Given the description of an element on the screen output the (x, y) to click on. 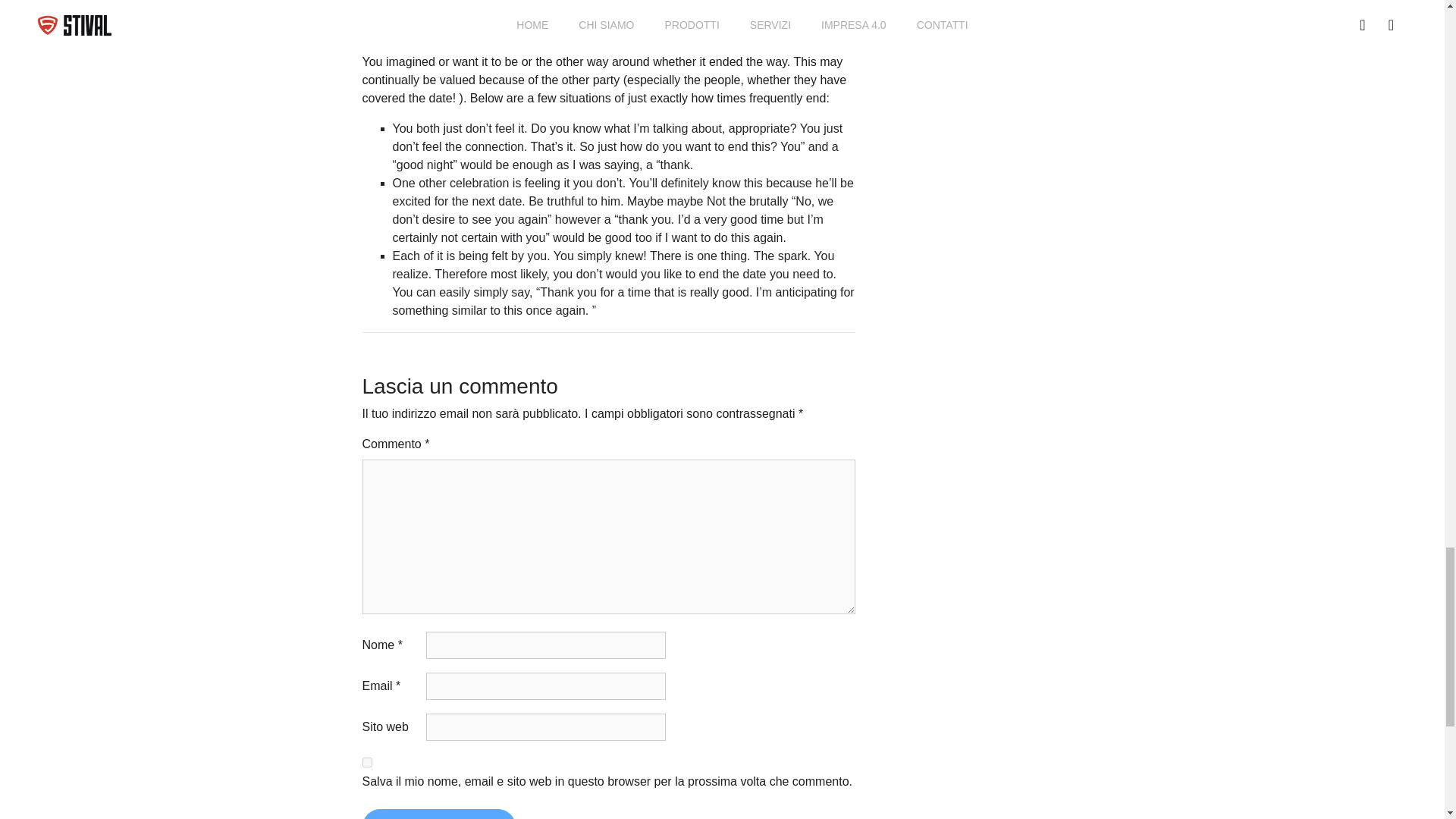
Invia commento (438, 814)
yes (367, 762)
Invia commento (438, 814)
